Given the description of an element on the screen output the (x, y) to click on. 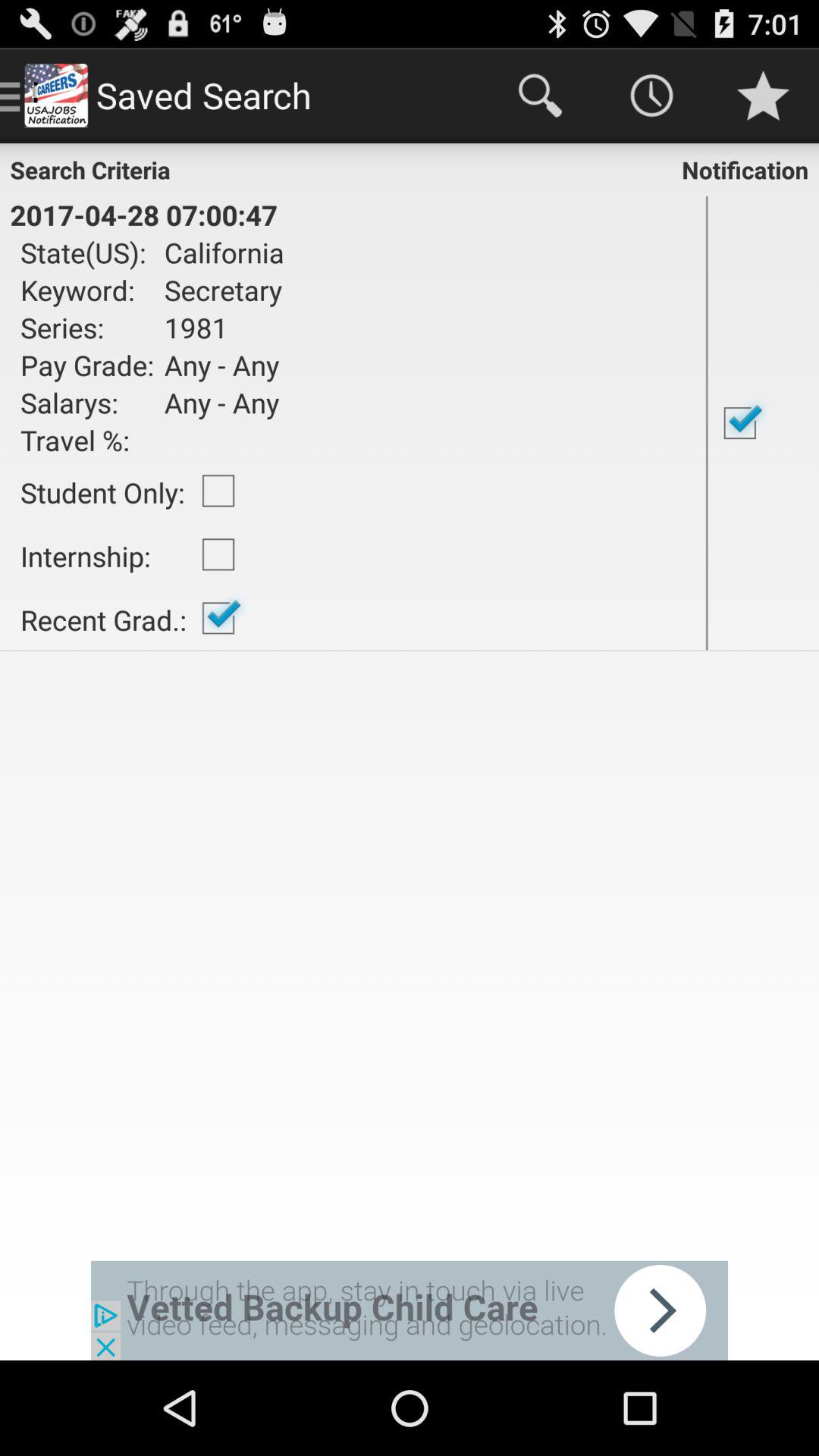
launch the item next to the 1981 icon (87, 364)
